Given the description of an element on the screen output the (x, y) to click on. 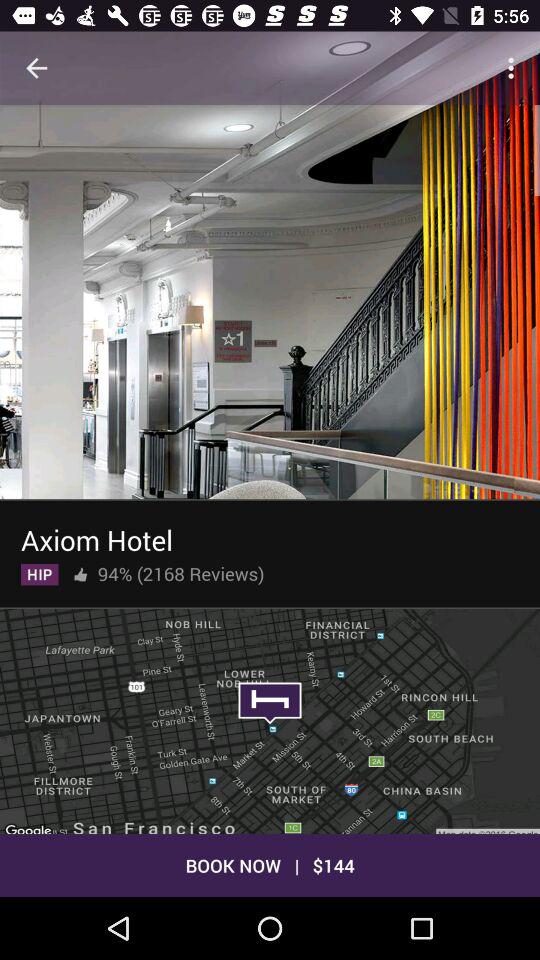
turn on item to the left of 94% (2168 reviews) item (80, 570)
